Given the description of an element on the screen output the (x, y) to click on. 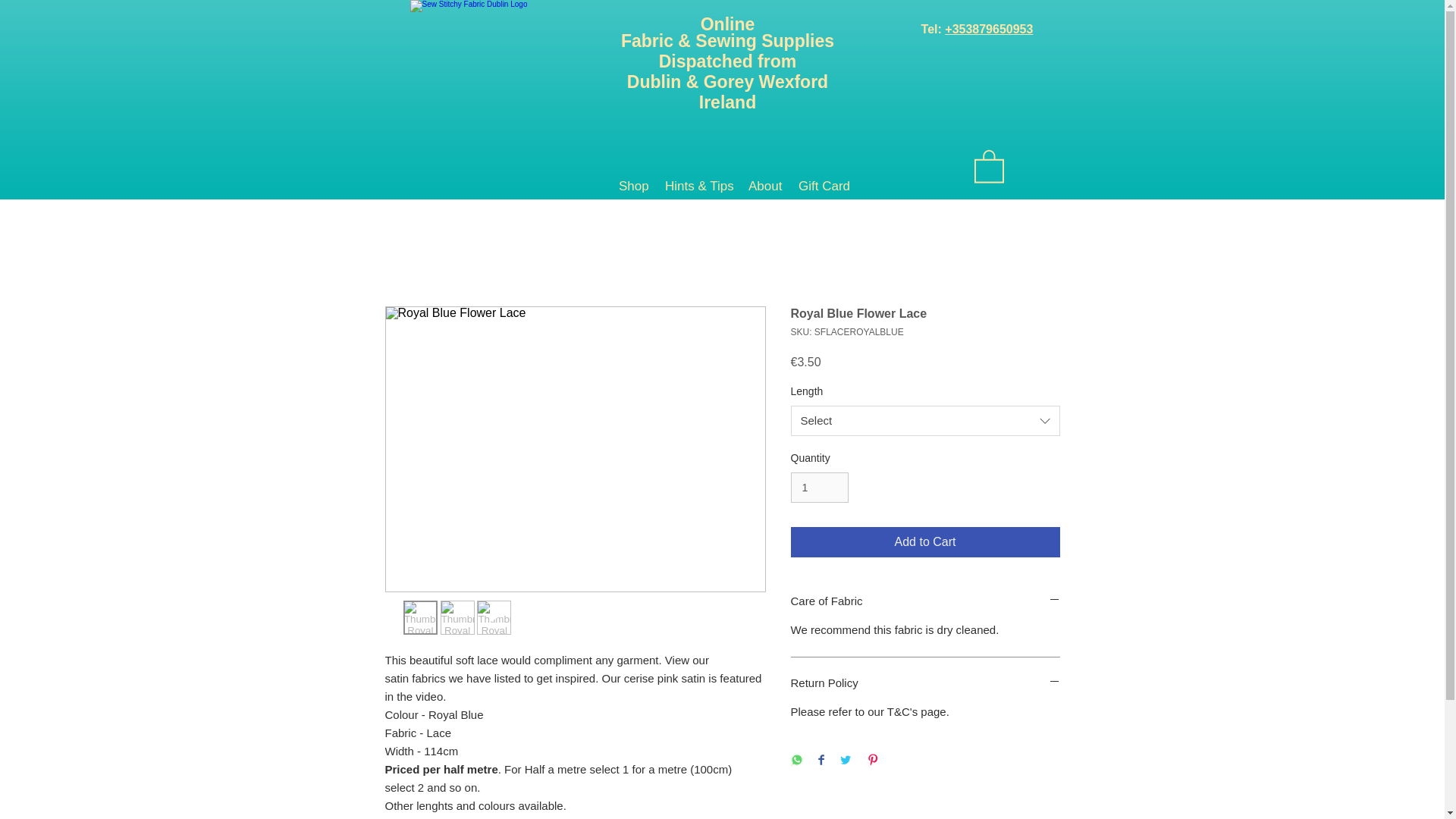
Ireland (726, 102)
Gift Card (821, 185)
Select (924, 420)
Add to Cart (924, 542)
Return Policy (924, 683)
Online (727, 24)
Care of Fabric (924, 601)
1 (818, 487)
